Given the description of an element on the screen output the (x, y) to click on. 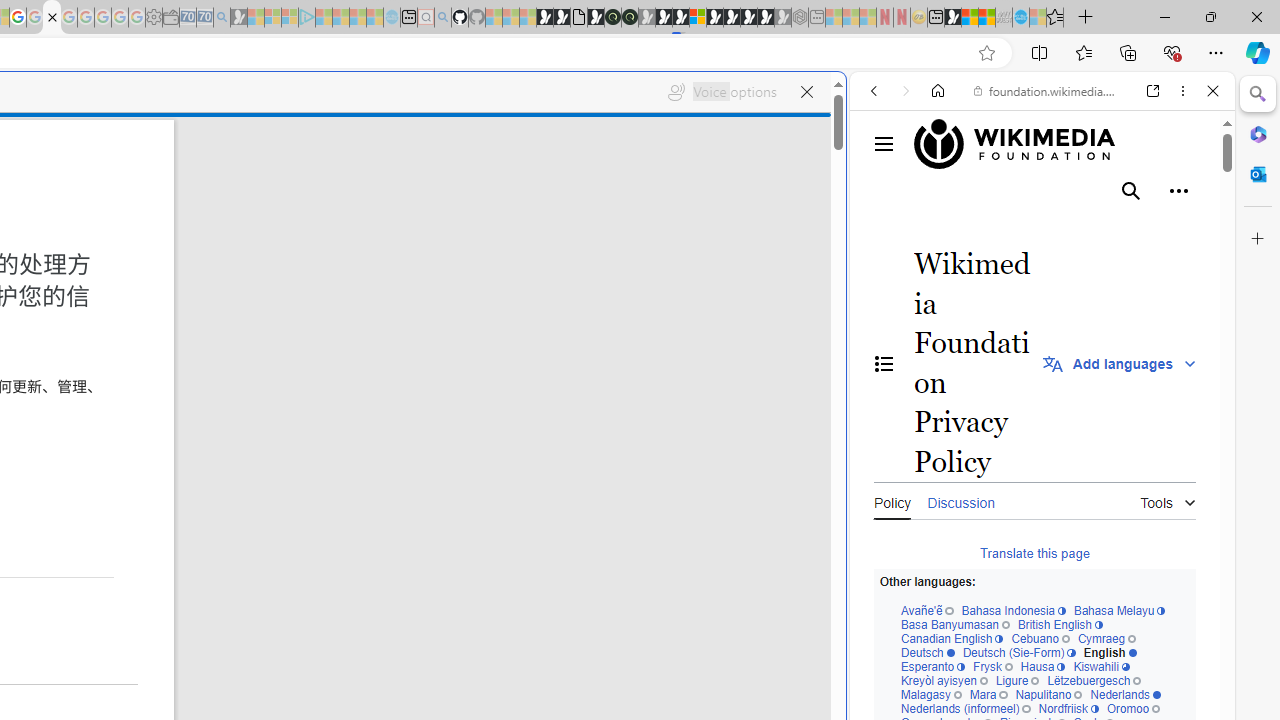
Tools (1167, 498)
Nederlands (1126, 695)
Frysk (992, 667)
Play Cave FRVR in your browser | Games from Microsoft Start (663, 17)
Close read aloud (805, 92)
